Given the description of an element on the screen output the (x, y) to click on. 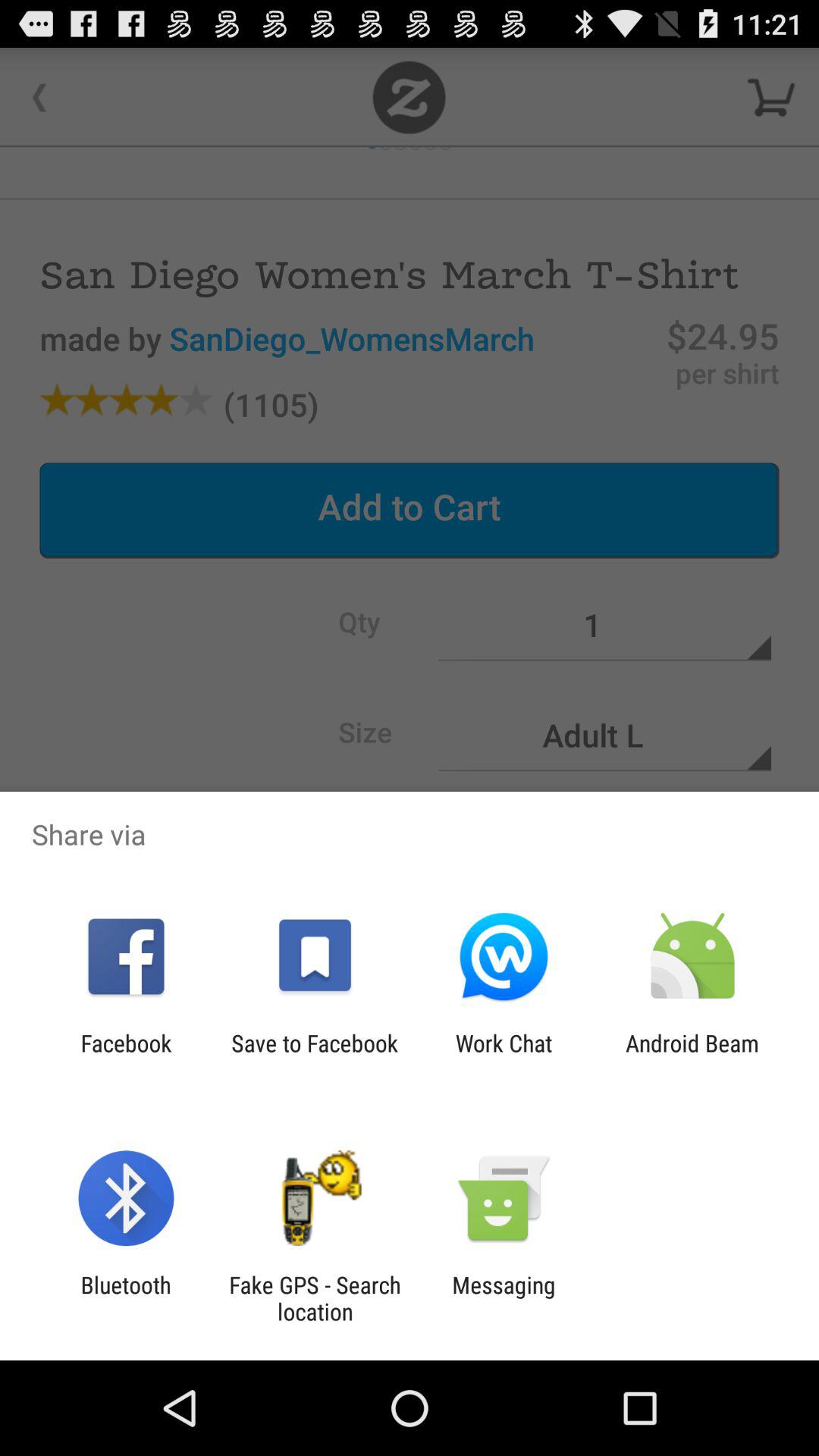
scroll until the messaging (503, 1298)
